Given the description of an element on the screen output the (x, y) to click on. 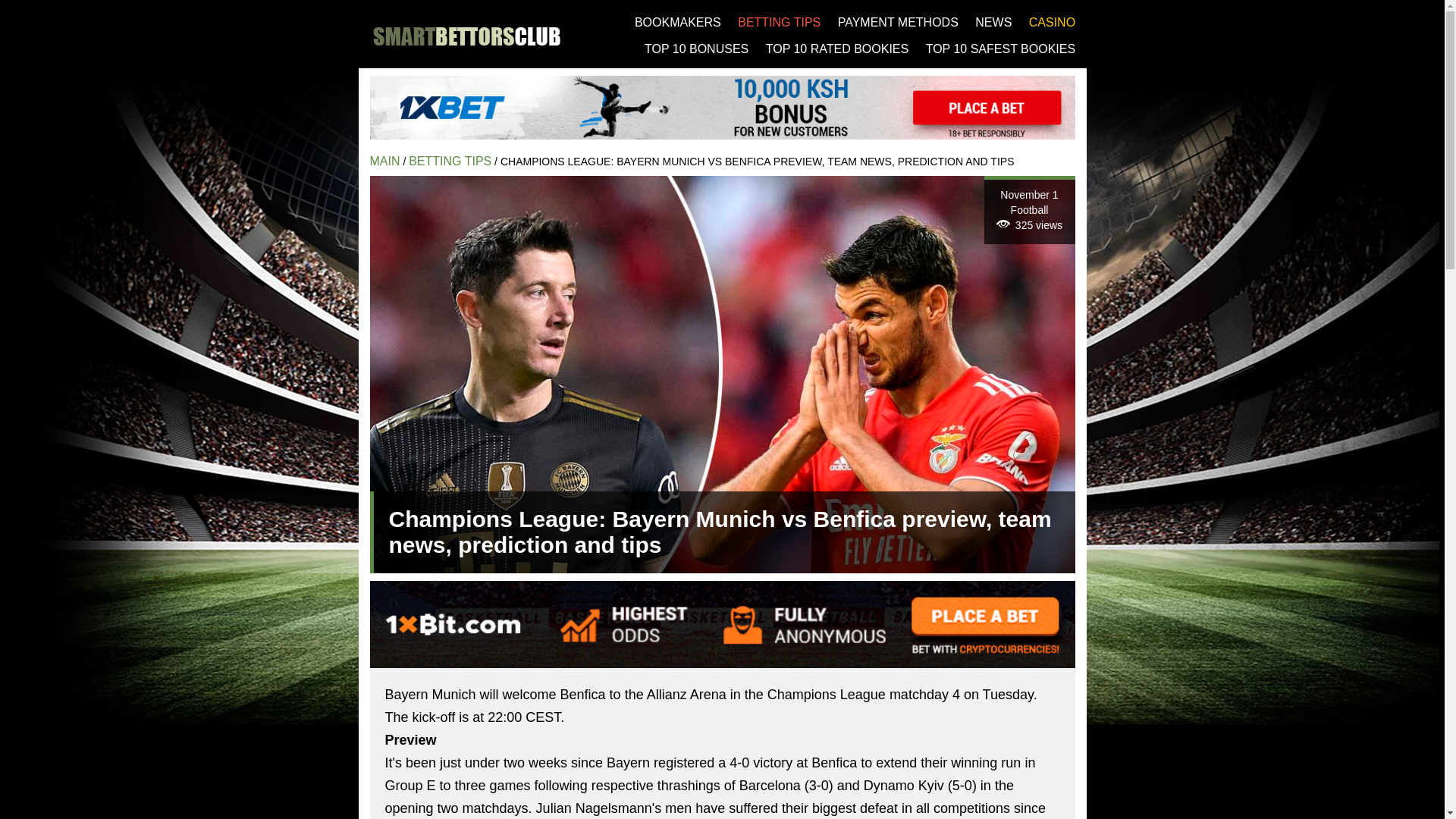
MAIN (384, 160)
BOOKMAKERS (677, 21)
PAYMENT METHODS (898, 21)
TOP 10 RATED BOOKIES (836, 48)
Welcome to the MODX Content Management System (384, 160)
Betting tips (450, 160)
BETTING TIPS (779, 21)
NEWS (993, 21)
TOP 10 SAFEST BOOKIES (1000, 48)
BETTING TIPS (450, 160)
CASINO (1052, 21)
TOP 10 BONUSES (696, 48)
